Given the description of an element on the screen output the (x, y) to click on. 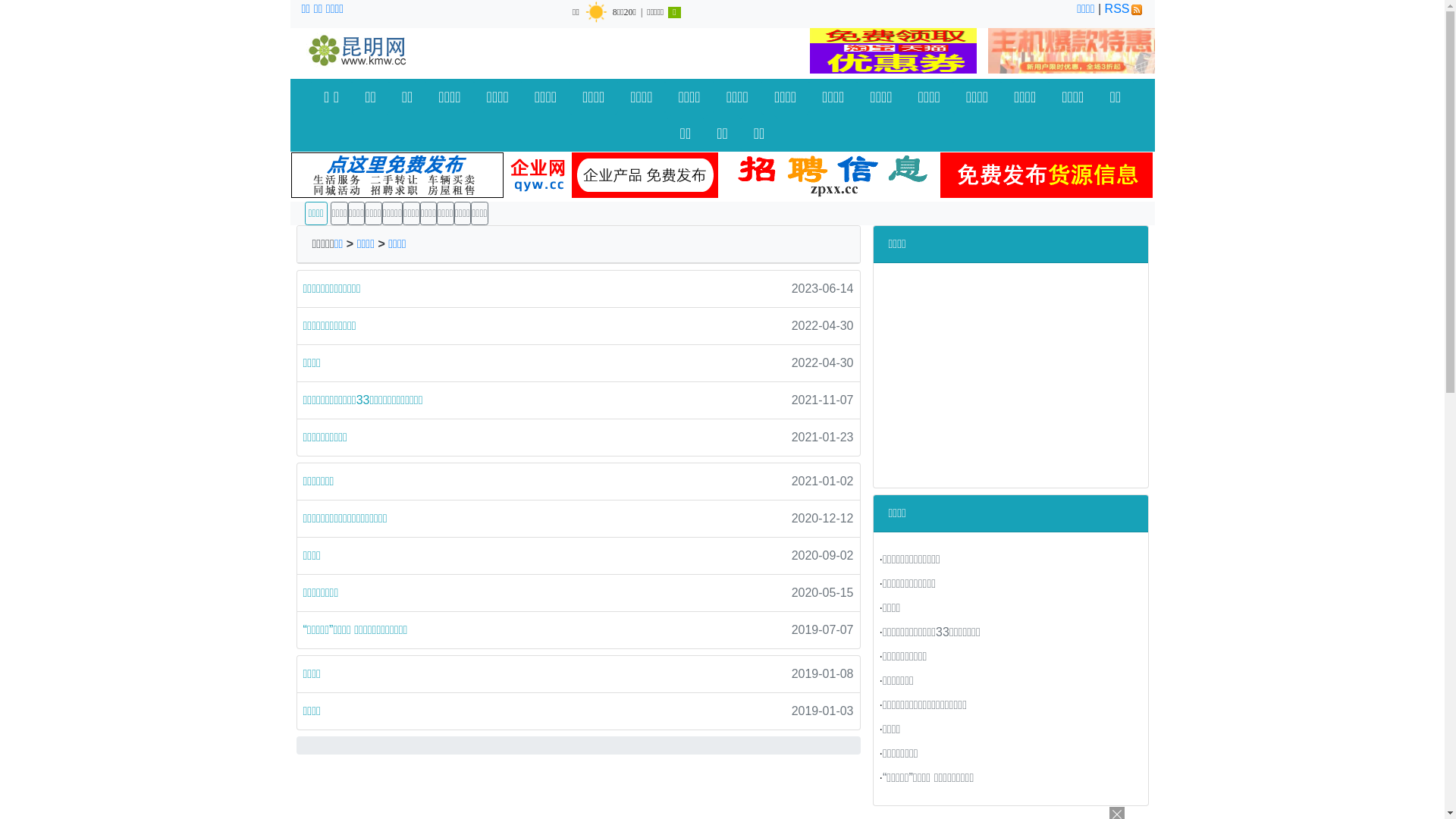
Advertisement Element type: hover (1010, 369)
RSS Element type: text (1123, 8)
